Given the description of an element on the screen output the (x, y) to click on. 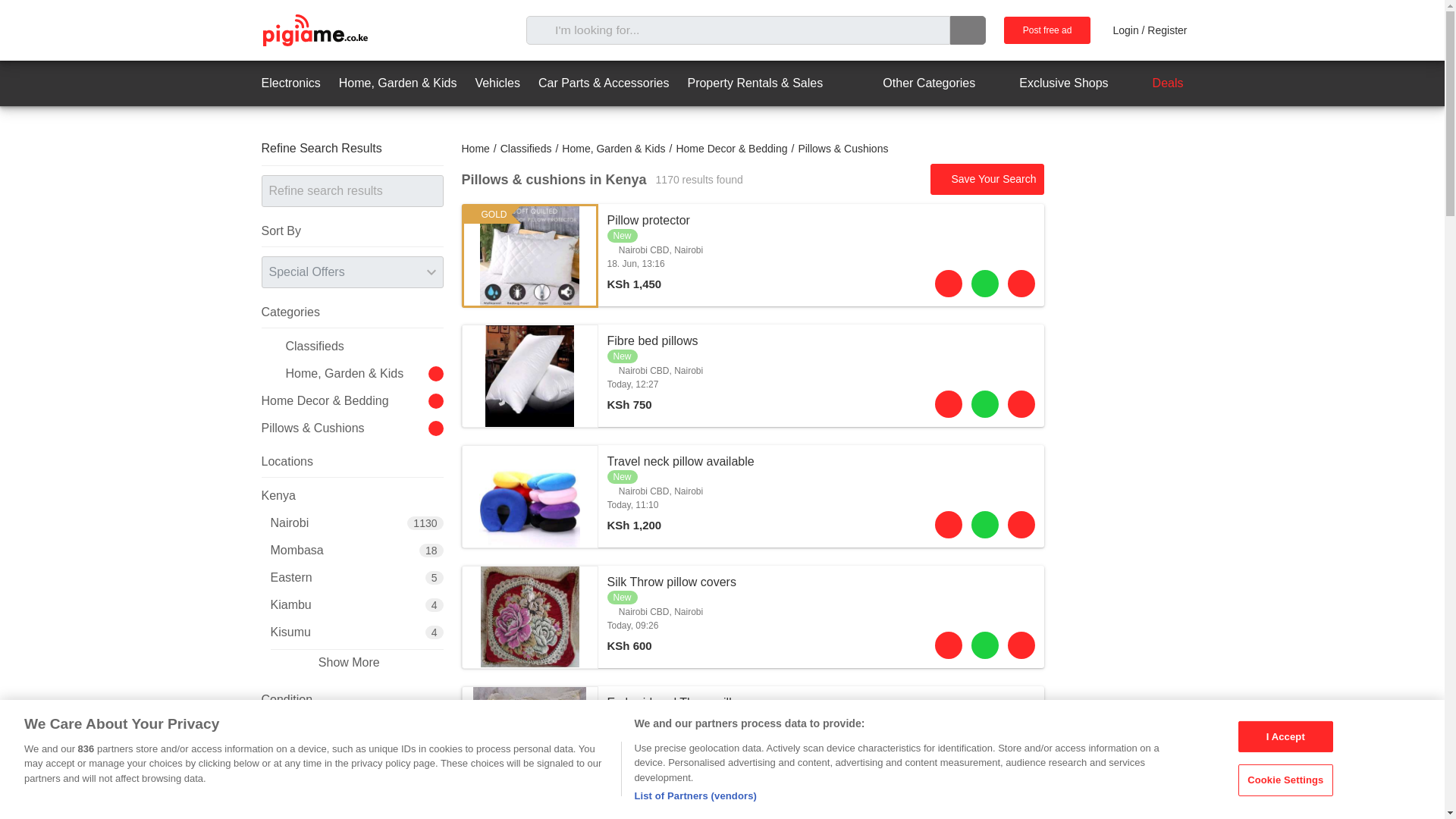
Deals (1155, 83)
Classifieds (525, 148)
Exclusive Shops (1050, 83)
Vehicles (497, 83)
Electronics (290, 83)
Post free ad (1047, 30)
Other Categories (915, 83)
Home (475, 148)
PigiaMe (314, 29)
